Given the description of an element on the screen output the (x, y) to click on. 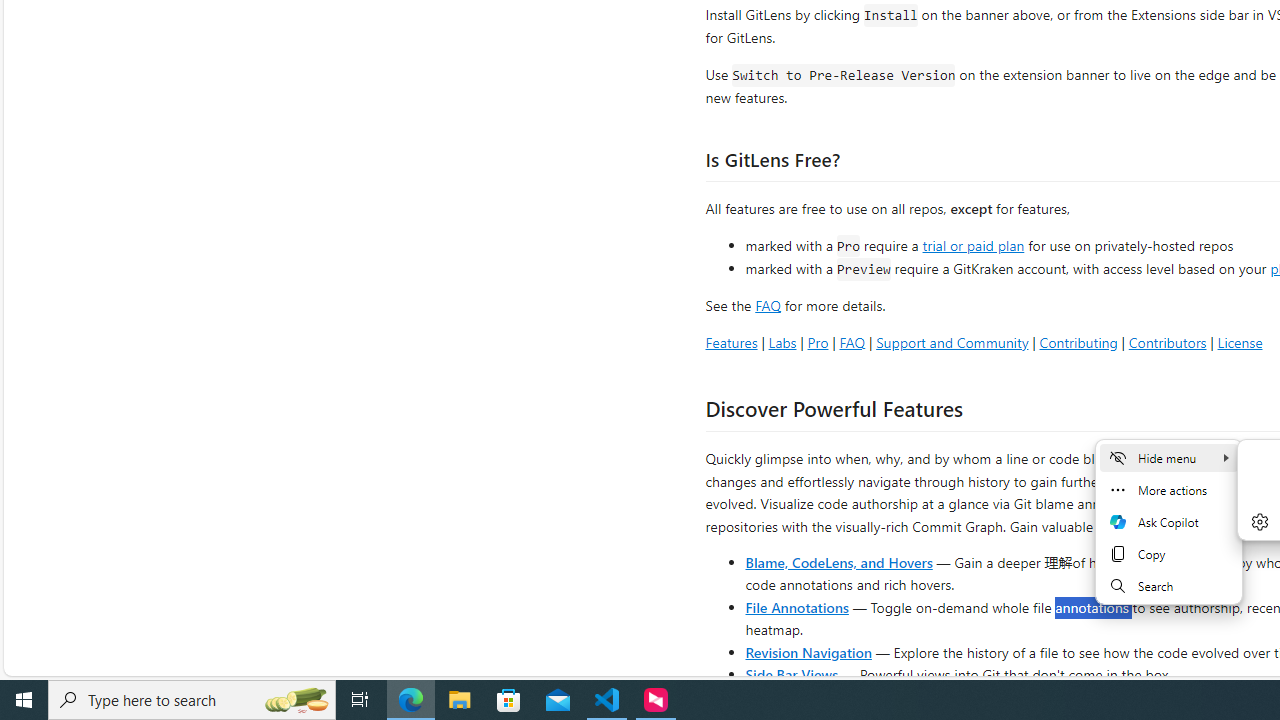
More actions (1168, 489)
Blame, CodeLens, and Hovers (838, 561)
License (1240, 341)
File Annotations (796, 606)
Labs (782, 341)
Support and Community (952, 341)
Contributing (1078, 341)
Features (731, 341)
Hide menu (1168, 457)
Ask Copilot (1168, 521)
Mini menu on text selection (1168, 521)
Mini menu on text selection (1169, 534)
Side Bar Views (791, 673)
trial or paid plan (973, 244)
